Given the description of an element on the screen output the (x, y) to click on. 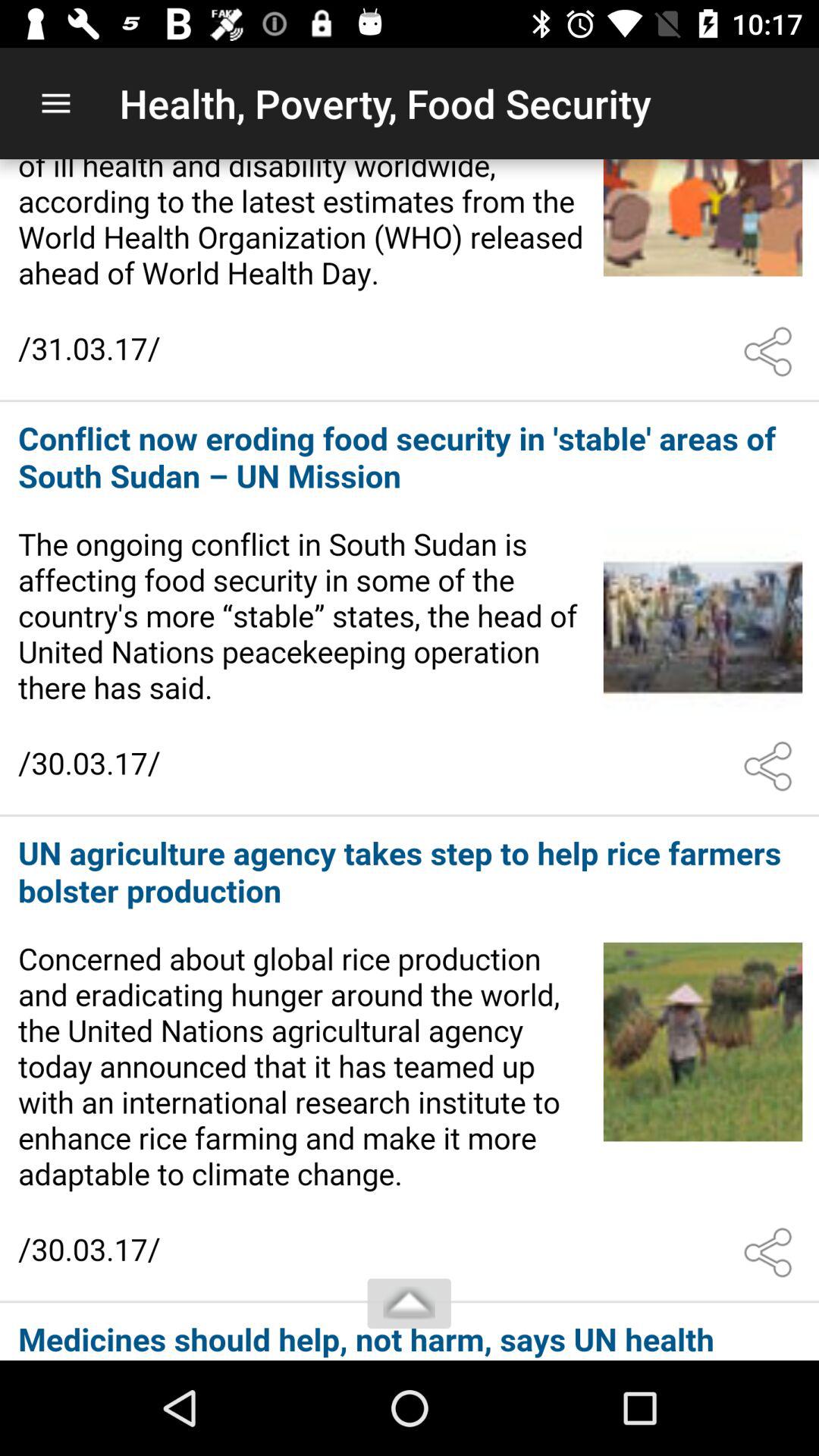
share (771, 351)
